Given the description of an element on the screen output the (x, y) to click on. 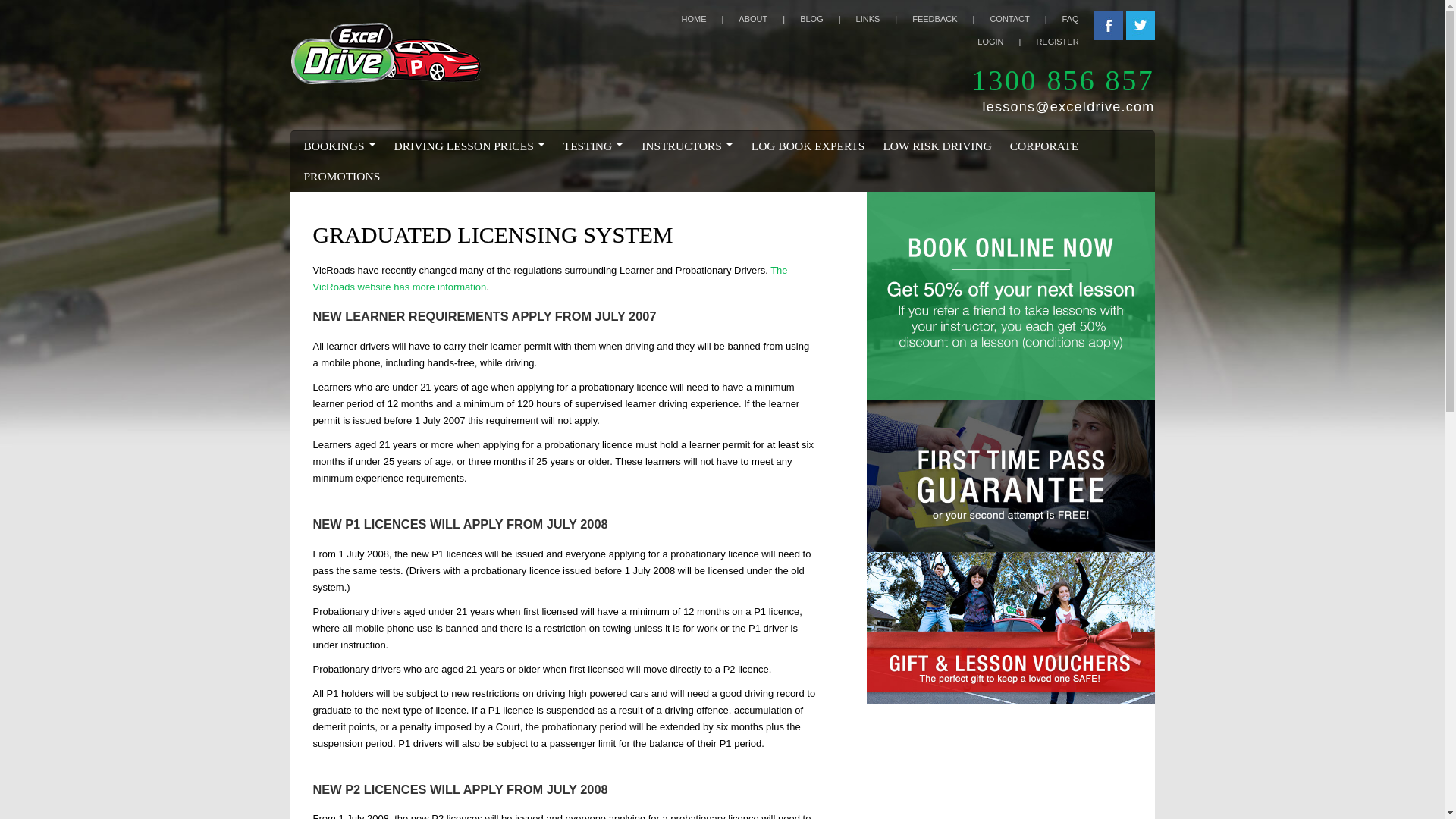
BOOKINGS Element type: text (339, 146)
BLOG Element type: text (827, 18)
1300 856 857 Element type: text (1063, 80)
LINKS Element type: text (884, 18)
lessons@exceldrive.com Element type: text (1063, 106)
FAQ Element type: text (1078, 18)
ABOUT Element type: text (769, 18)
LOGIN Element type: text (1006, 41)
REGISTER Element type: text (1064, 41)
DRIVING LESSON PRICES Element type: text (468, 146)
INSTRUCTORS Element type: text (687, 146)
LOW RISK DRIVING Element type: text (936, 146)
CORPORATE Element type: text (1044, 146)
FEEDBACK Element type: text (950, 18)
LOG BOOK EXPERTS Element type: text (808, 146)
TESTING Element type: text (593, 146)
PROMOTIONS Element type: text (341, 176)
CONTACT Element type: text (1025, 18)
The VicRoads website has more information Element type: text (549, 278)
HOME Element type: text (709, 18)
